Given the description of an element on the screen output the (x, y) to click on. 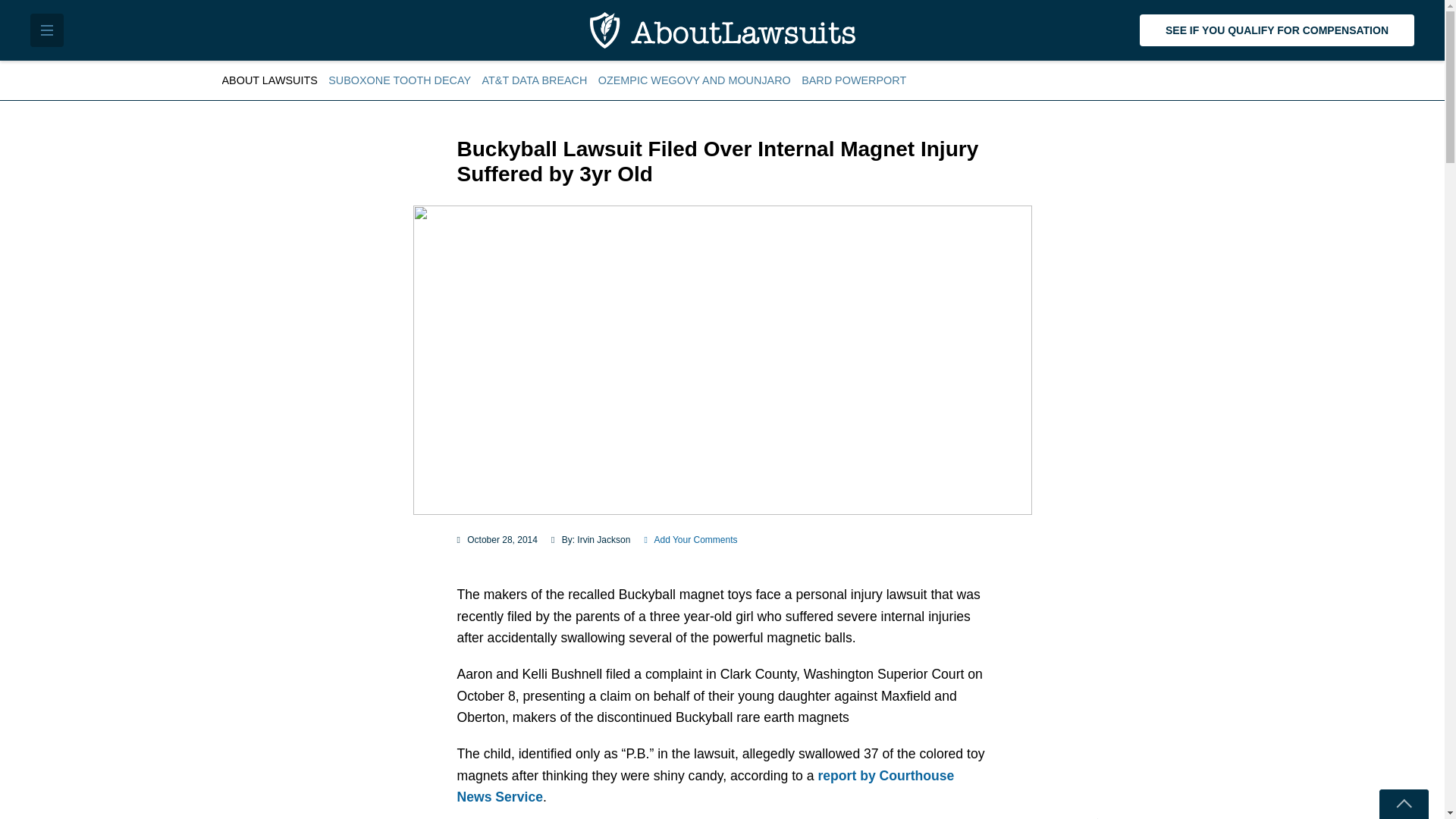
Toggle newsletter signup form. (1403, 804)
Add Your Comments (689, 539)
report by Courthouse News Service (705, 786)
SUBOXONE TOOTH DECAY (399, 80)
SEE IF YOU QUALIFY FOR COMPENSATION (1276, 30)
ABOUT LAWSUITS (272, 80)
Toggle Menu (47, 29)
BARD POWERPORT (853, 80)
OZEMPIC WEGOVY AND MOUNJARO (694, 80)
